Given the description of an element on the screen output the (x, y) to click on. 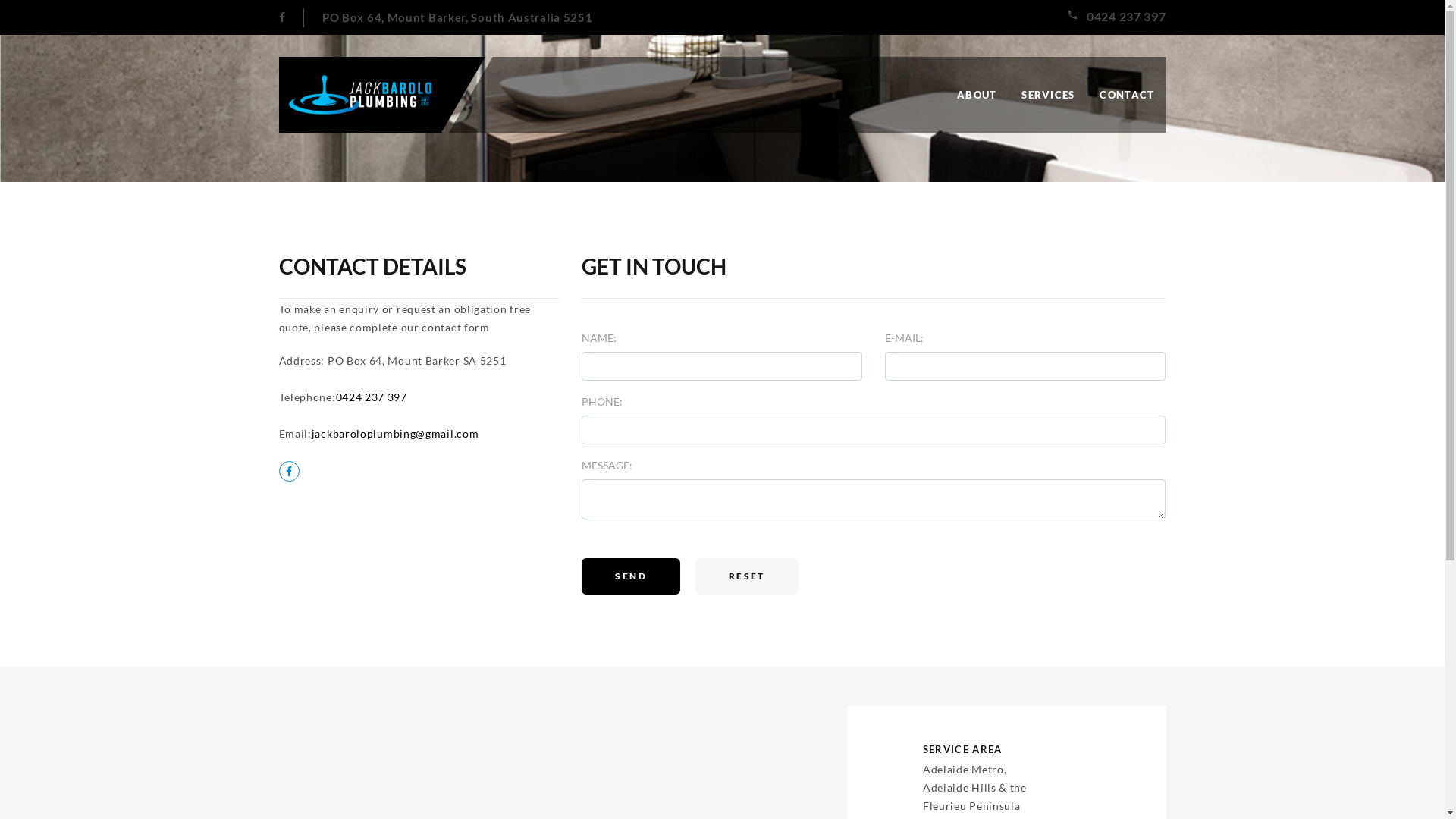
SEND Element type: text (630, 576)
0424 237 397 Element type: text (1125, 16)
RESET Element type: text (746, 576)
jackbaroloplumbing@gmail.com Element type: text (395, 433)
CONTACT Element type: text (1126, 94)
ABOUT Element type: text (977, 94)
SERVICES Element type: text (1047, 94)
0424 237 397 Element type: text (370, 397)
